Given the description of an element on the screen output the (x, y) to click on. 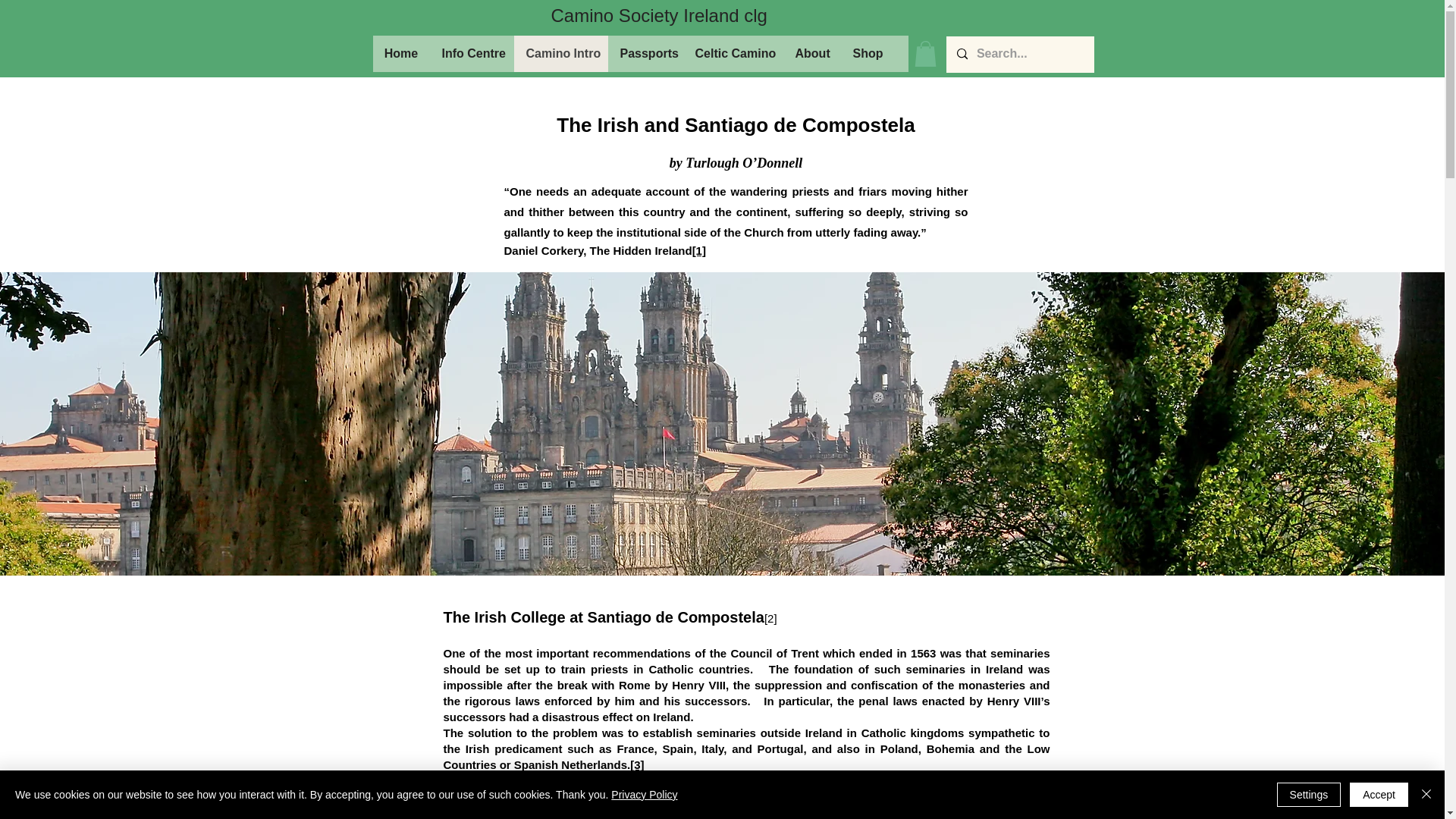
About (811, 54)
Passports (645, 54)
Info Centre (471, 54)
Celtic Camino (732, 54)
Privacy Policy (644, 794)
Camino Intro (560, 54)
Home (400, 54)
Shop (866, 54)
